Given the description of an element on the screen output the (x, y) to click on. 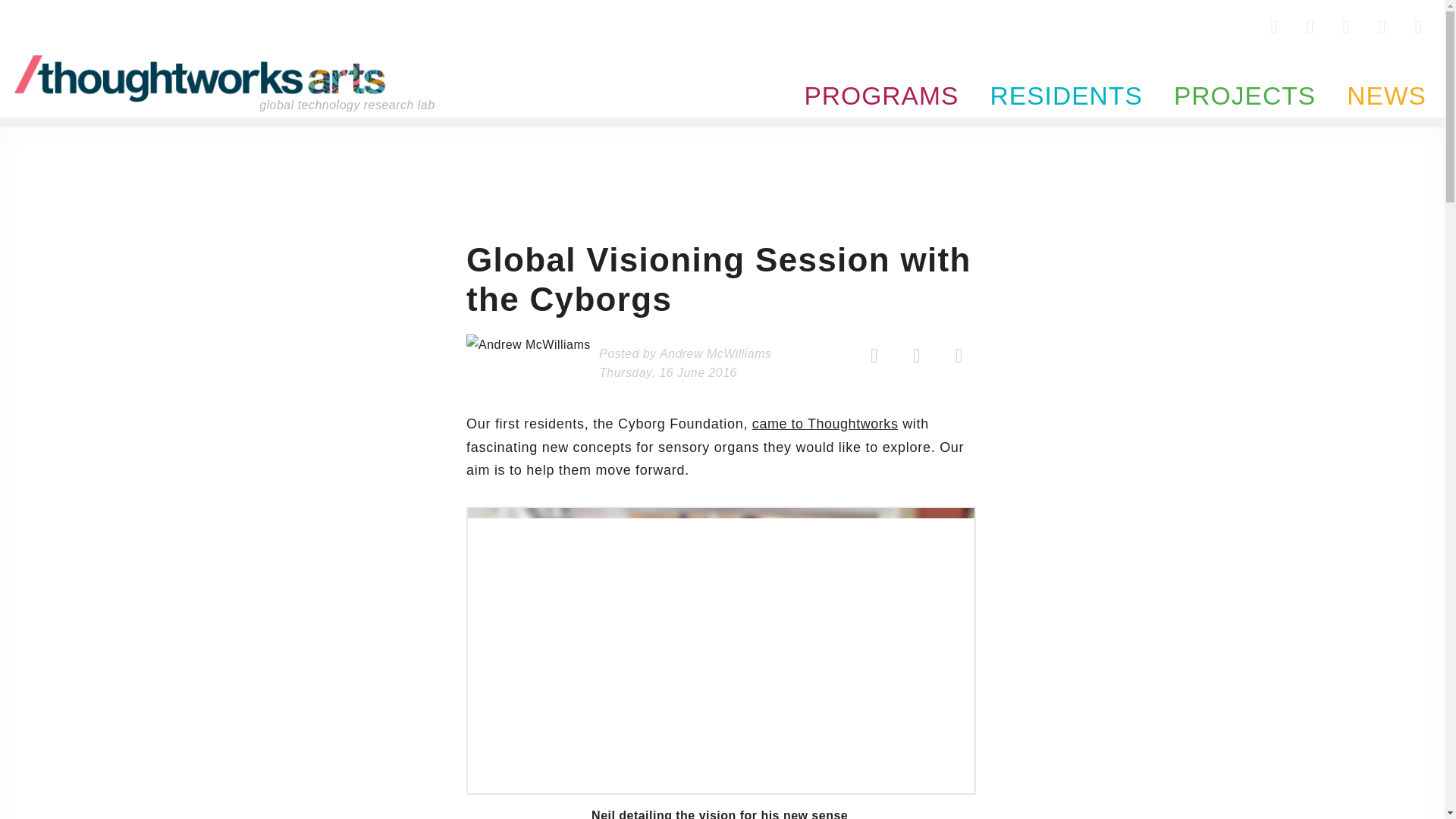
RESIDENTS (1059, 74)
came to Thoughtworks (825, 423)
PROJECTS (1237, 74)
global technology research lab (200, 78)
NEWS (1376, 74)
Andrew McWilliams (715, 353)
PROGRAMS (875, 74)
